Given the description of an element on the screen output the (x, y) to click on. 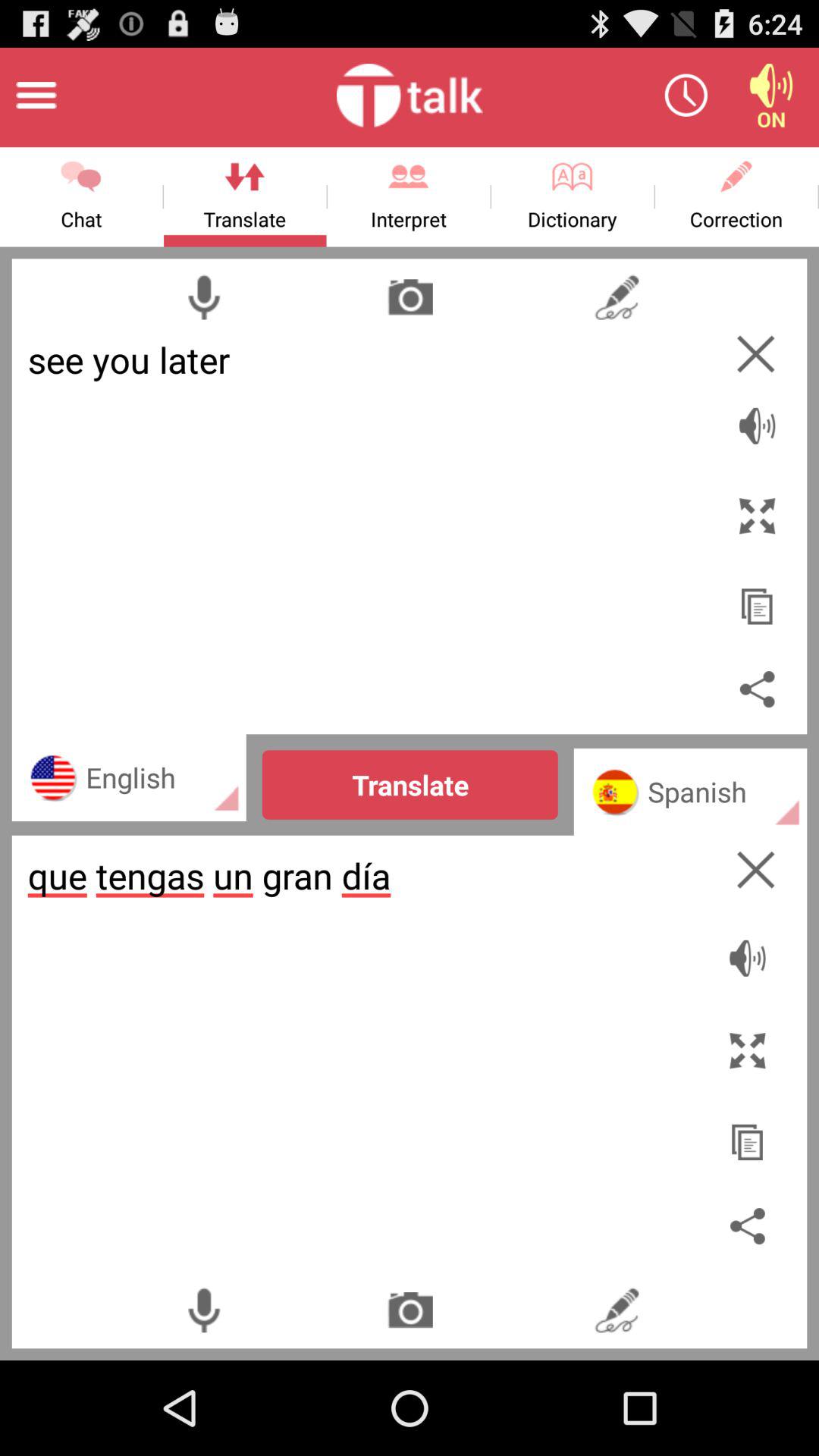
activate media audio (771, 95)
